Given the description of an element on the screen output the (x, y) to click on. 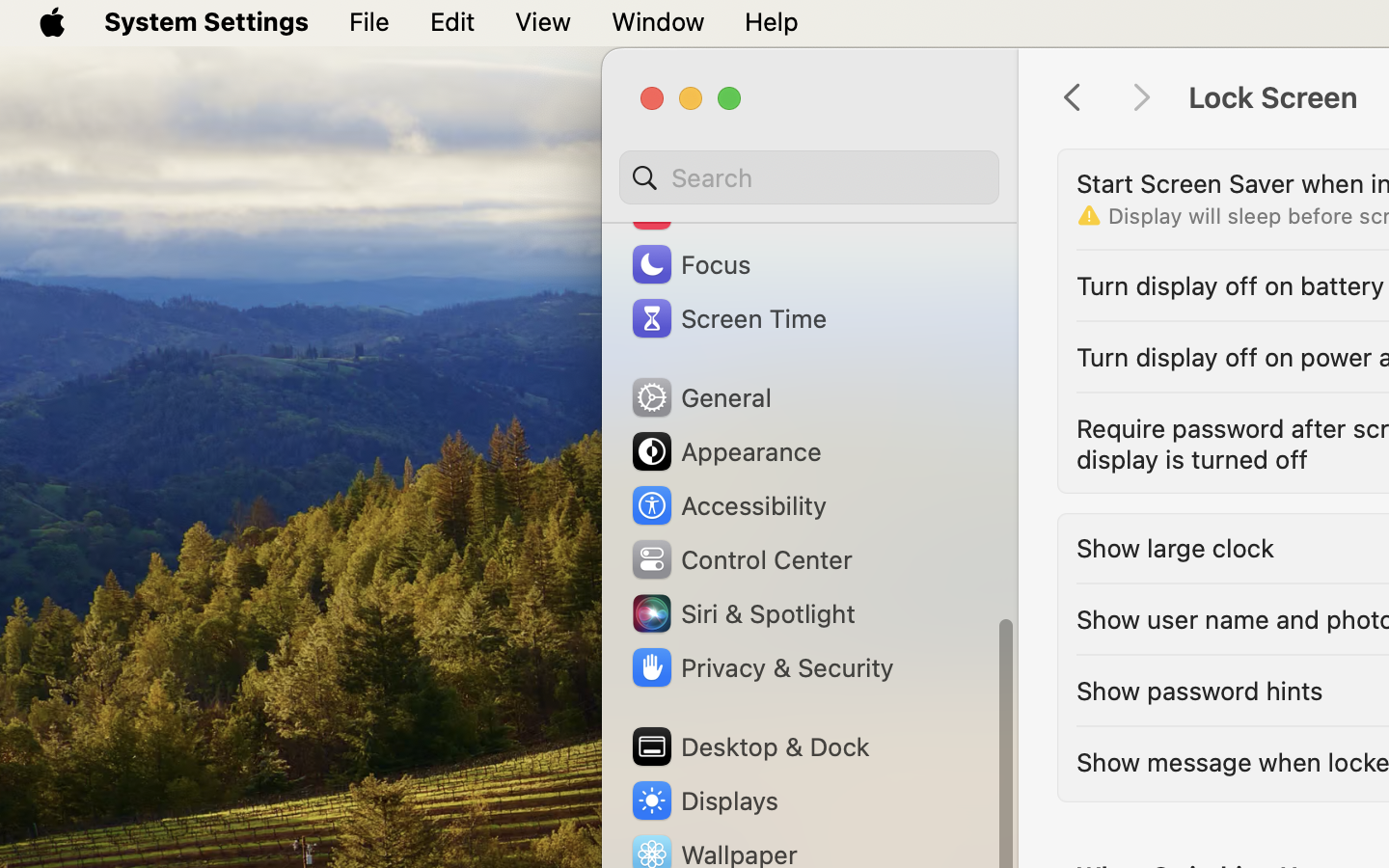
Displays Element type: AXStaticText (703, 800)
Siri & Spotlight Element type: AXStaticText (741, 613)
Desktop & Dock Element type: AXStaticText (749, 746)
